Given the description of an element on the screen output the (x, y) to click on. 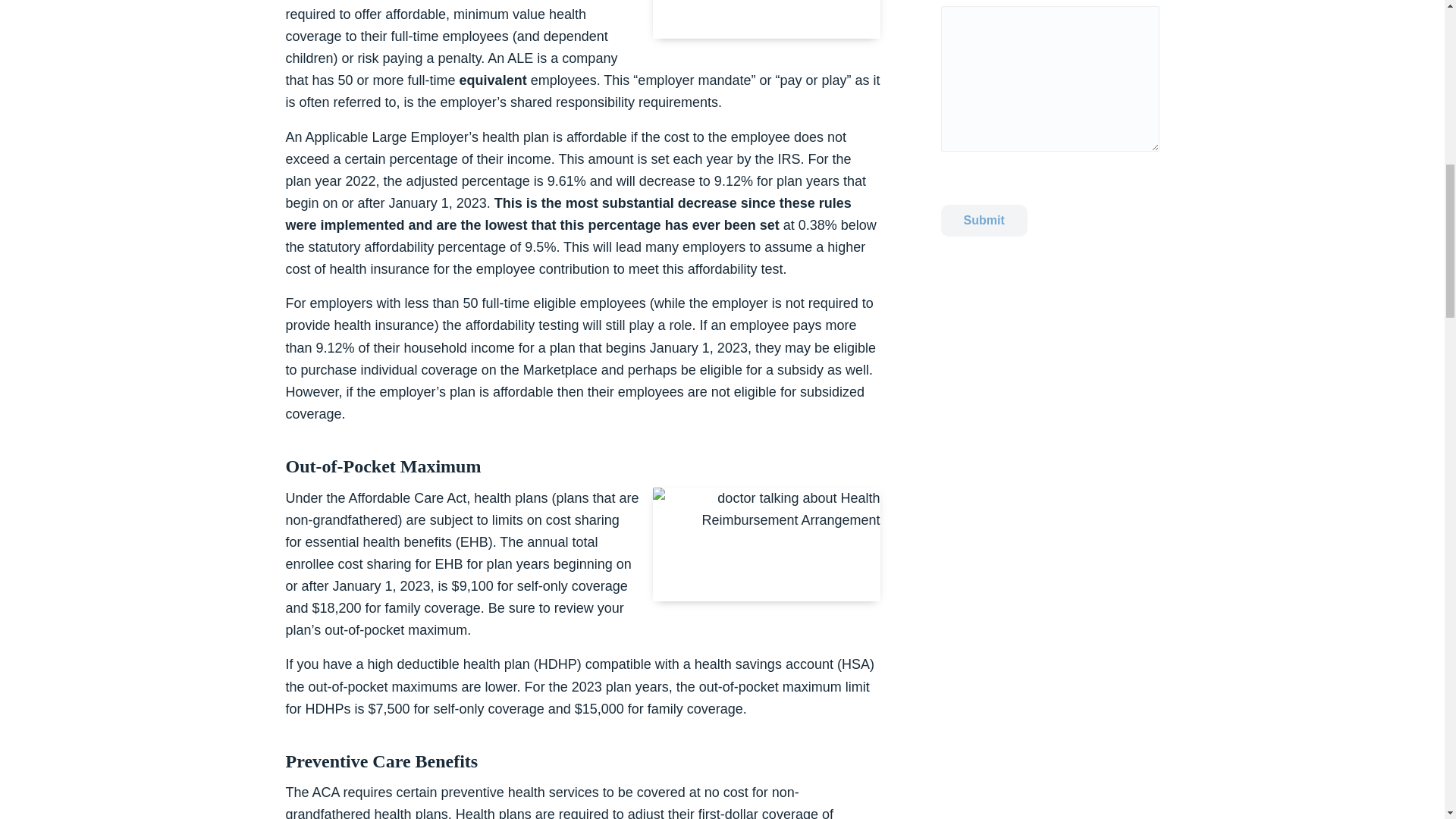
Submit (983, 220)
